Given the description of an element on the screen output the (x, y) to click on. 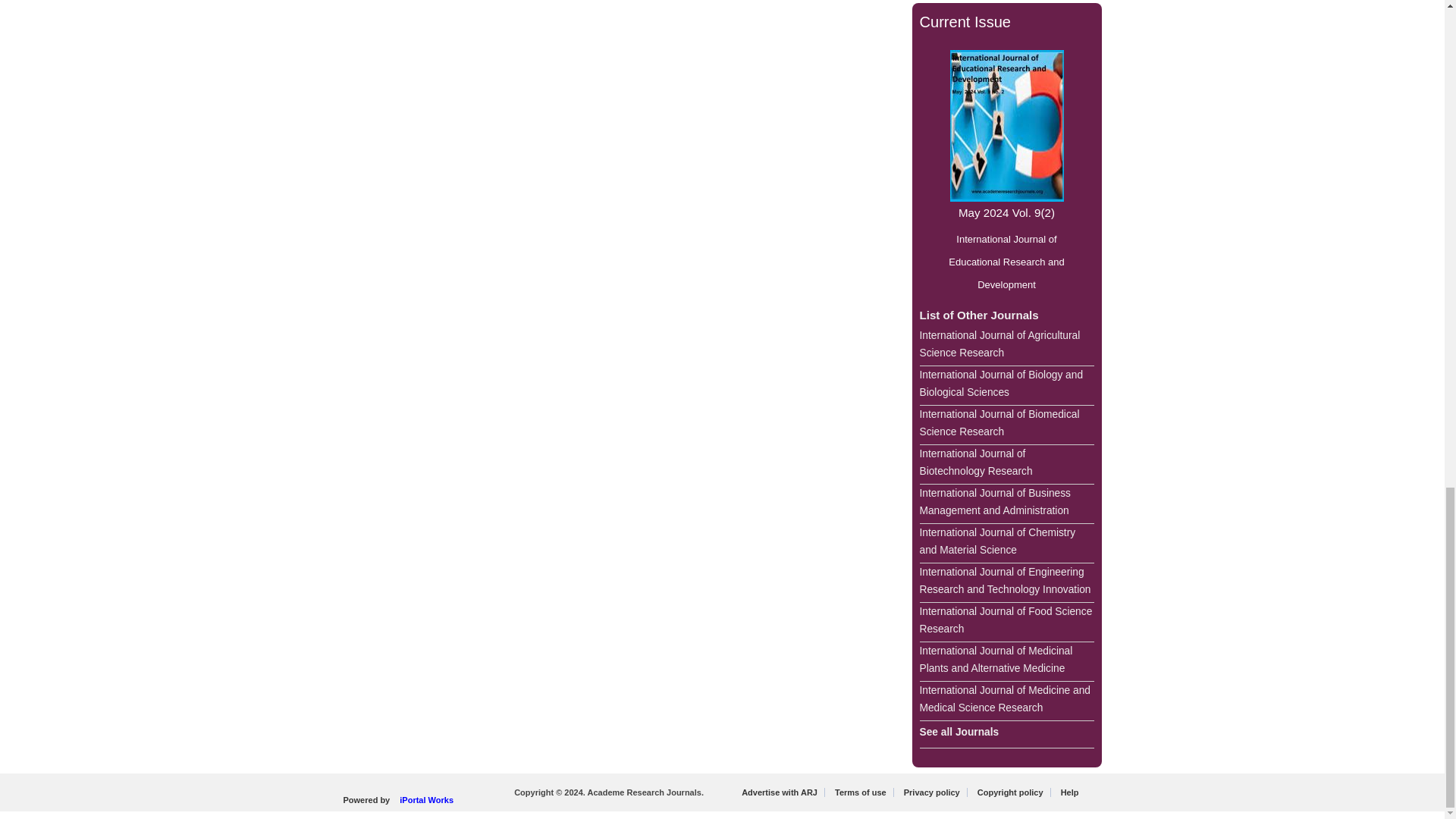
See all Journals (1005, 734)
Advertise with ARJ (779, 792)
International Journal of Biomedical Science Research (1005, 425)
International Journal of Food Science Research (1005, 622)
Terms of use (860, 792)
Copyright policy (1010, 792)
International Journal of Biotechnology Research (1005, 464)
International Journal of Chemistry and Material Science (1005, 543)
